Given the description of an element on the screen output the (x, y) to click on. 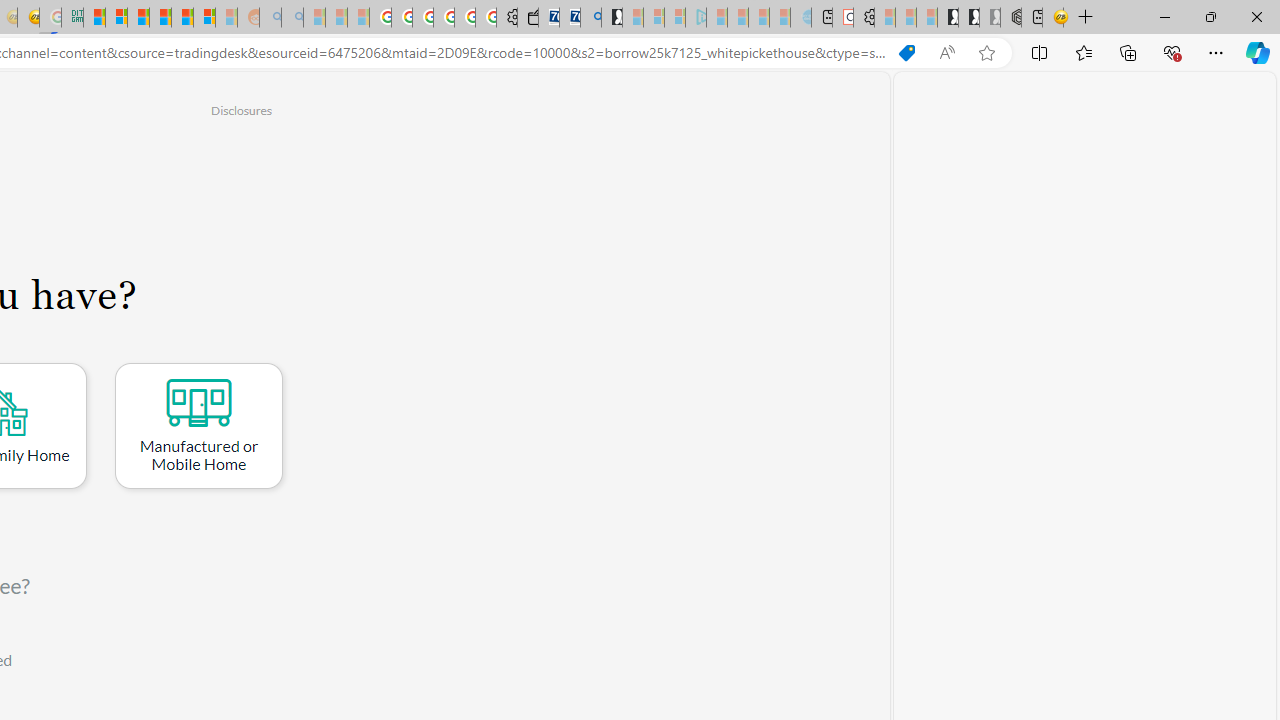
Disclosures (241, 110)
Wallet (527, 17)
Bing Real Estate - Home sales and rental listings (591, 17)
